Given the description of an element on the screen output the (x, y) to click on. 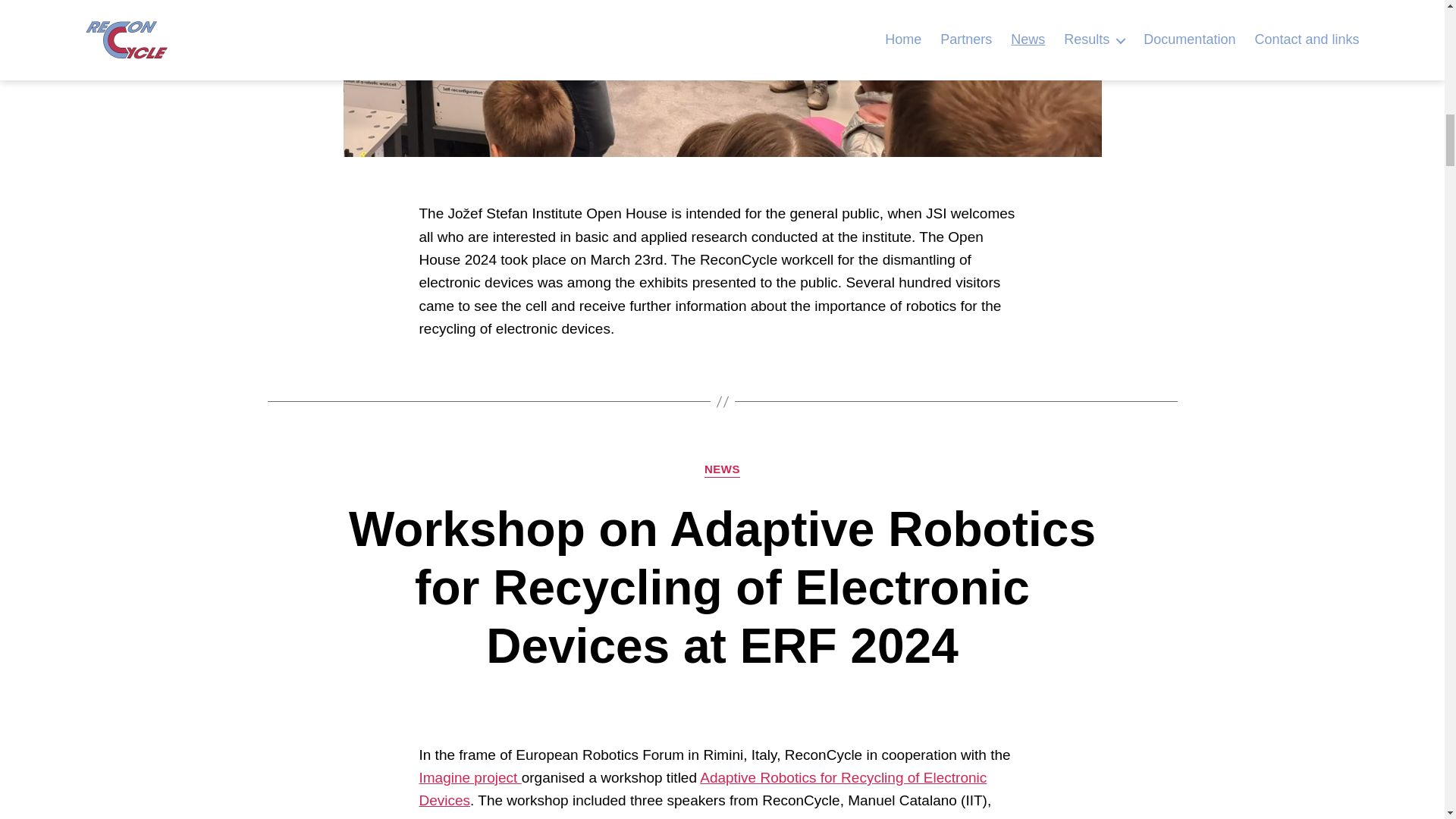
NEWS (721, 469)
Adaptive Robotics for Recycling of Electronic Devices (703, 788)
Imagine project (470, 777)
